Given the description of an element on the screen output the (x, y) to click on. 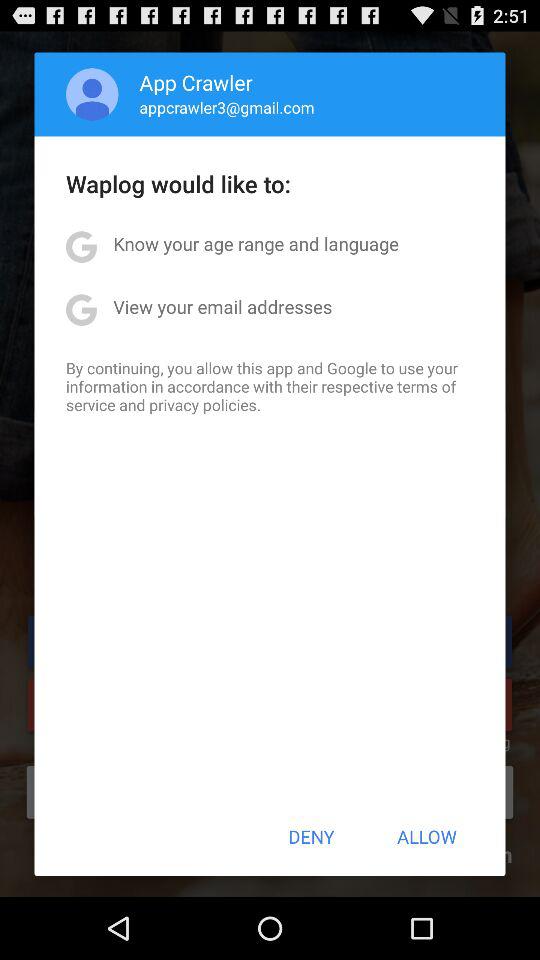
scroll until the deny item (311, 836)
